Given the description of an element on the screen output the (x, y) to click on. 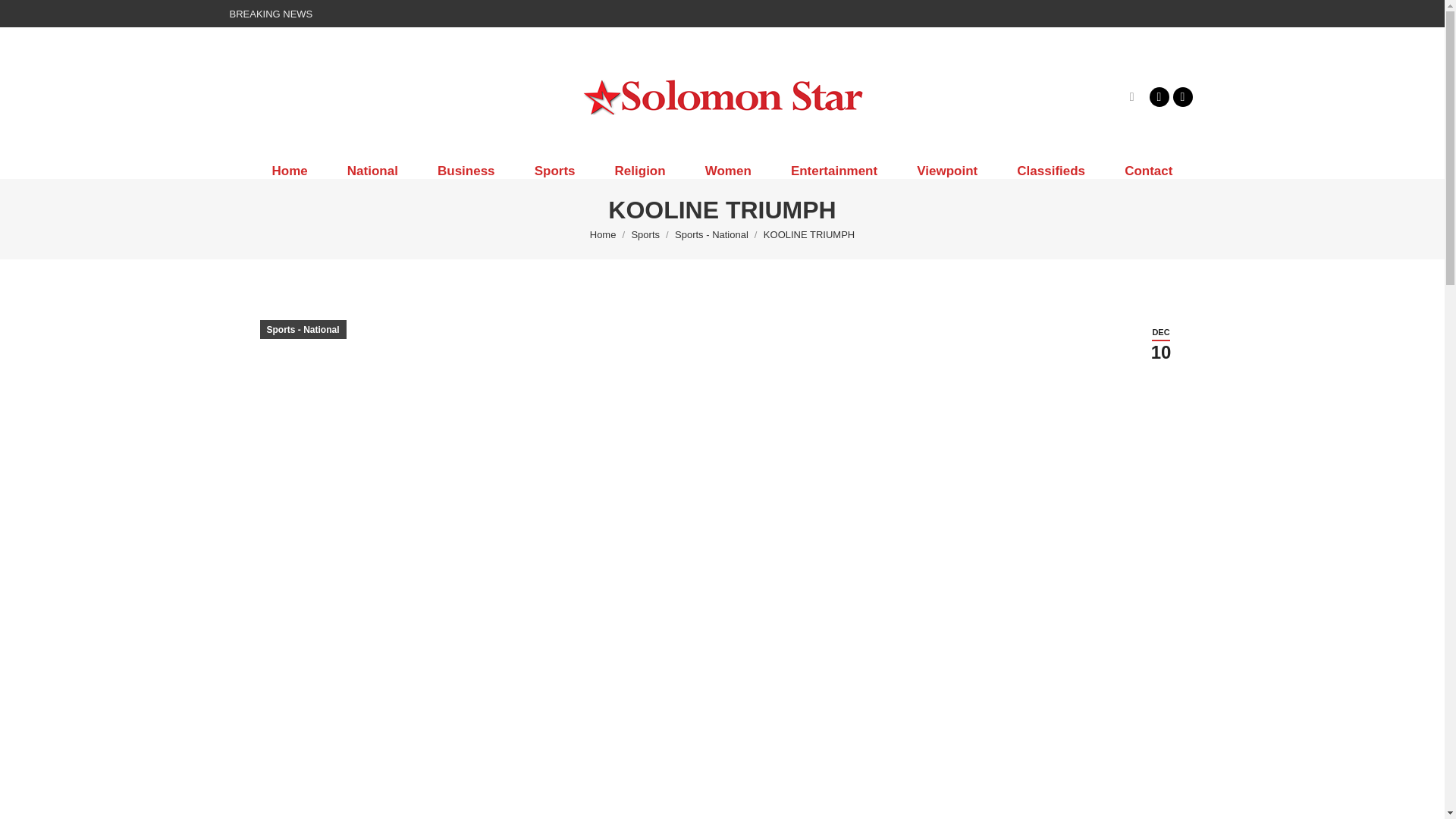
Home (288, 170)
Business (466, 170)
Home (602, 234)
Viewpoint (946, 170)
12:17 am (1161, 343)
Entertainment (833, 170)
Sports (555, 170)
Classifieds (1051, 170)
X page opens in new window (1182, 96)
Women (728, 170)
